Given the description of an element on the screen output the (x, y) to click on. 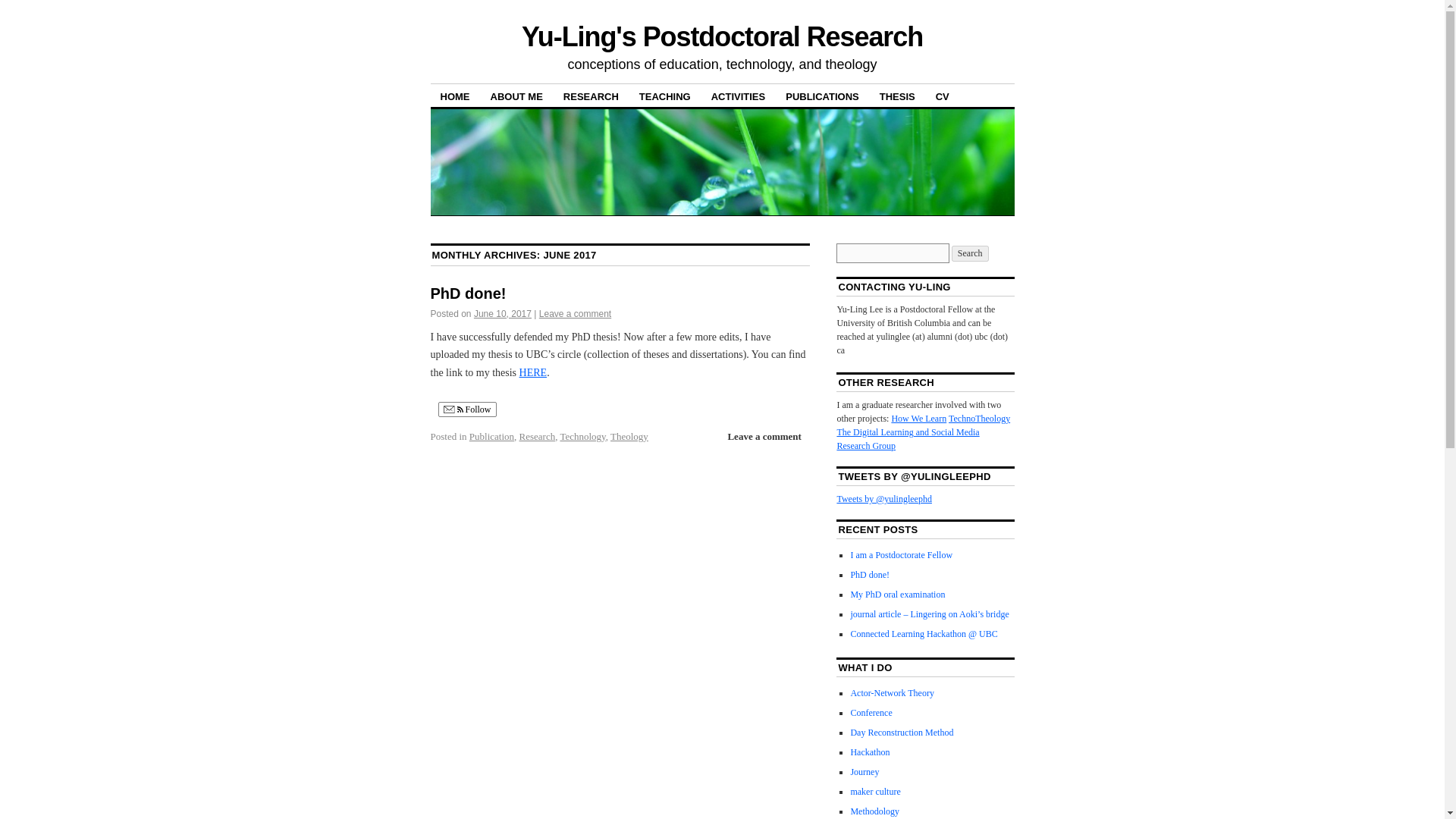
How We Learn (918, 418)
Journey (864, 771)
Leave a comment (763, 436)
My PhD oral examination (897, 593)
June 10, 2017 (502, 313)
Theology (628, 436)
Yu-Ling's Postdoctoral Research (722, 36)
I am a Postdoctorate Fellow (901, 554)
The Digital Learning and Social Media Research Group (906, 438)
PUBLICATIONS (822, 96)
